Given the description of an element on the screen output the (x, y) to click on. 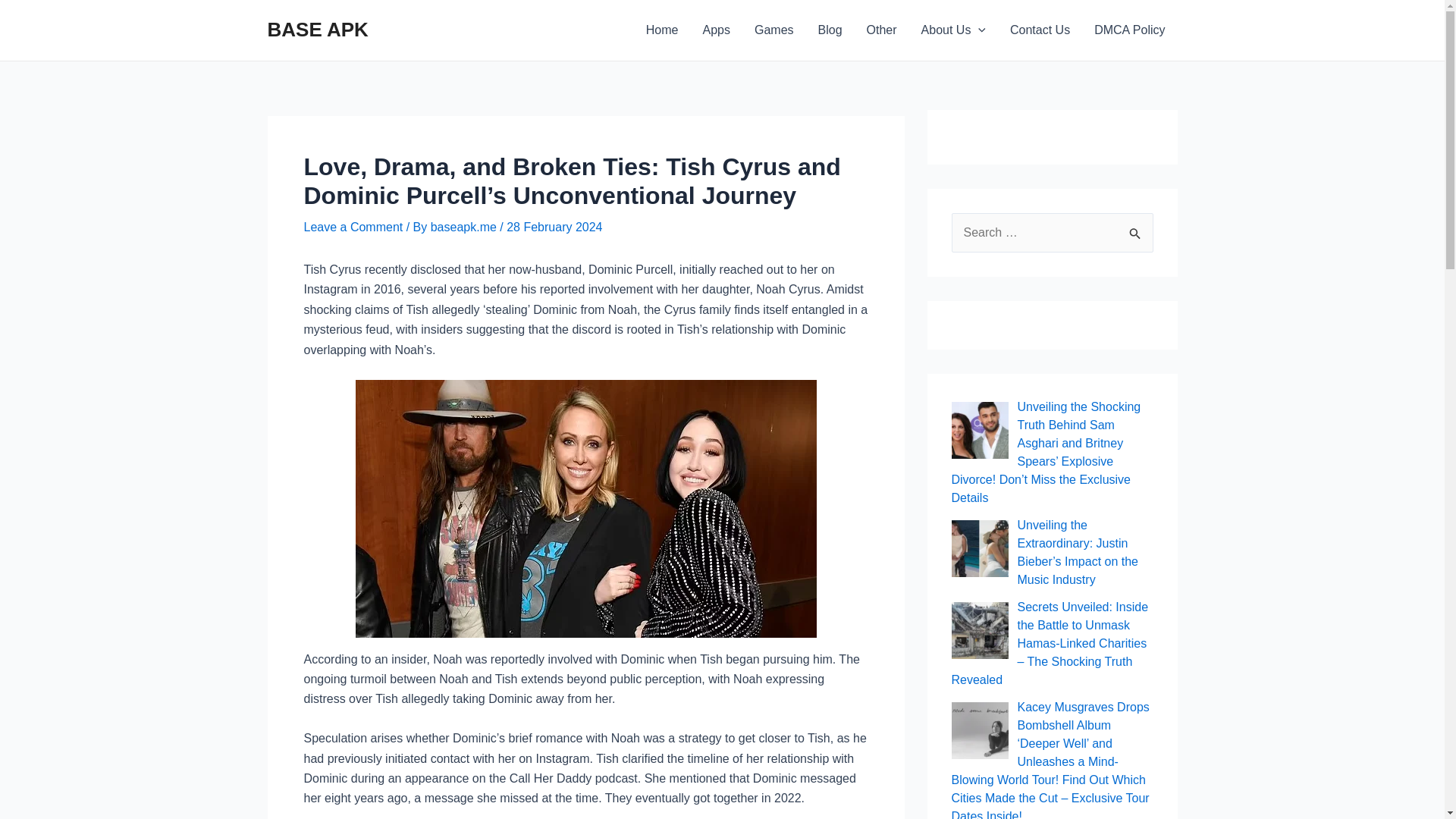
BASE APK (317, 29)
About Us (952, 30)
Search (1136, 228)
Home (661, 30)
Games (774, 30)
Contact Us (1039, 30)
View all posts by baseapk.me (465, 226)
Love (585, 509)
Leave a Comment (352, 226)
Search (1136, 228)
